Given the description of an element on the screen output the (x, y) to click on. 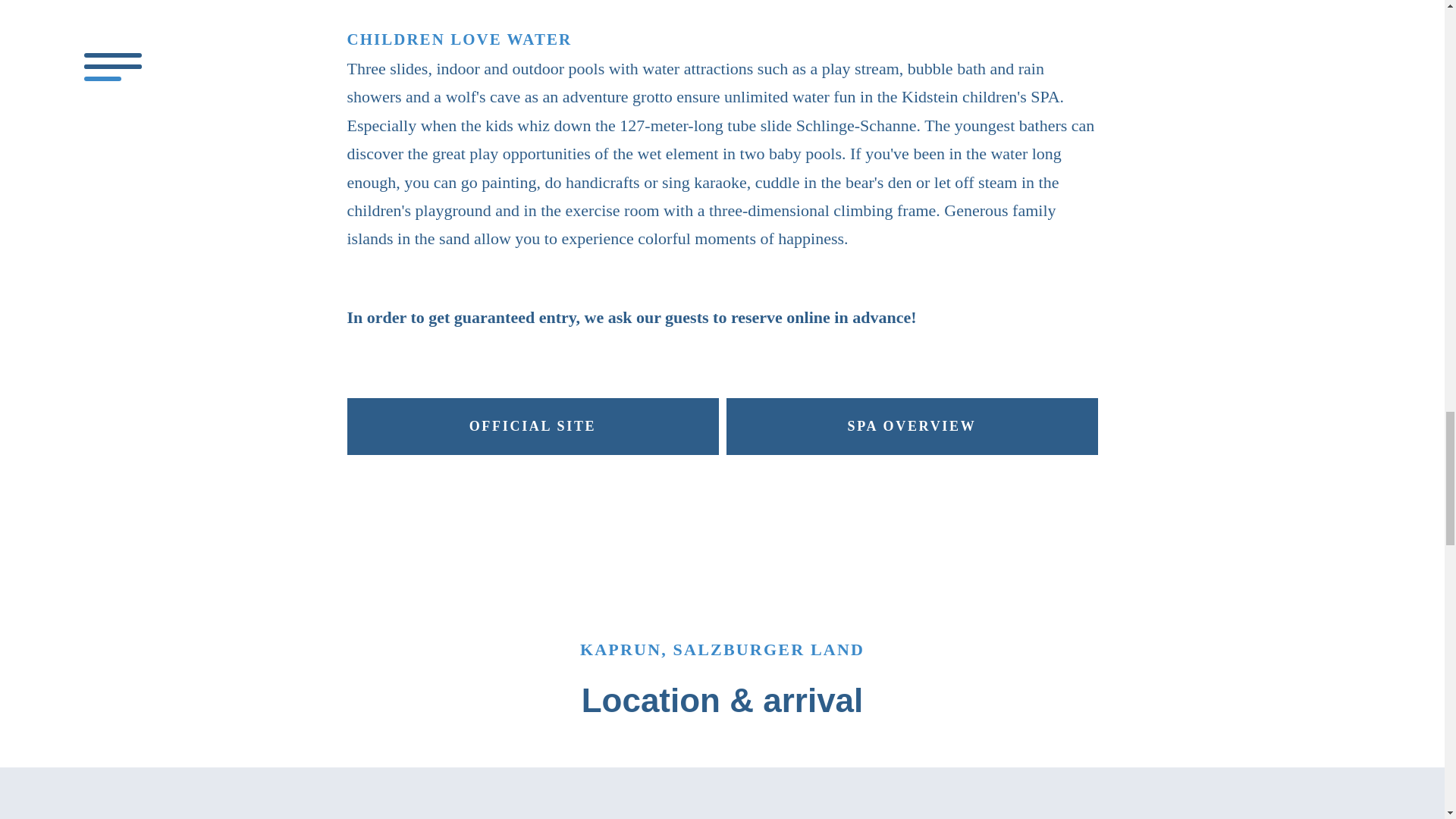
SPA OVERVIEW (911, 426)
OFFICIAL SITE (533, 426)
